Given the description of an element on the screen output the (x, y) to click on. 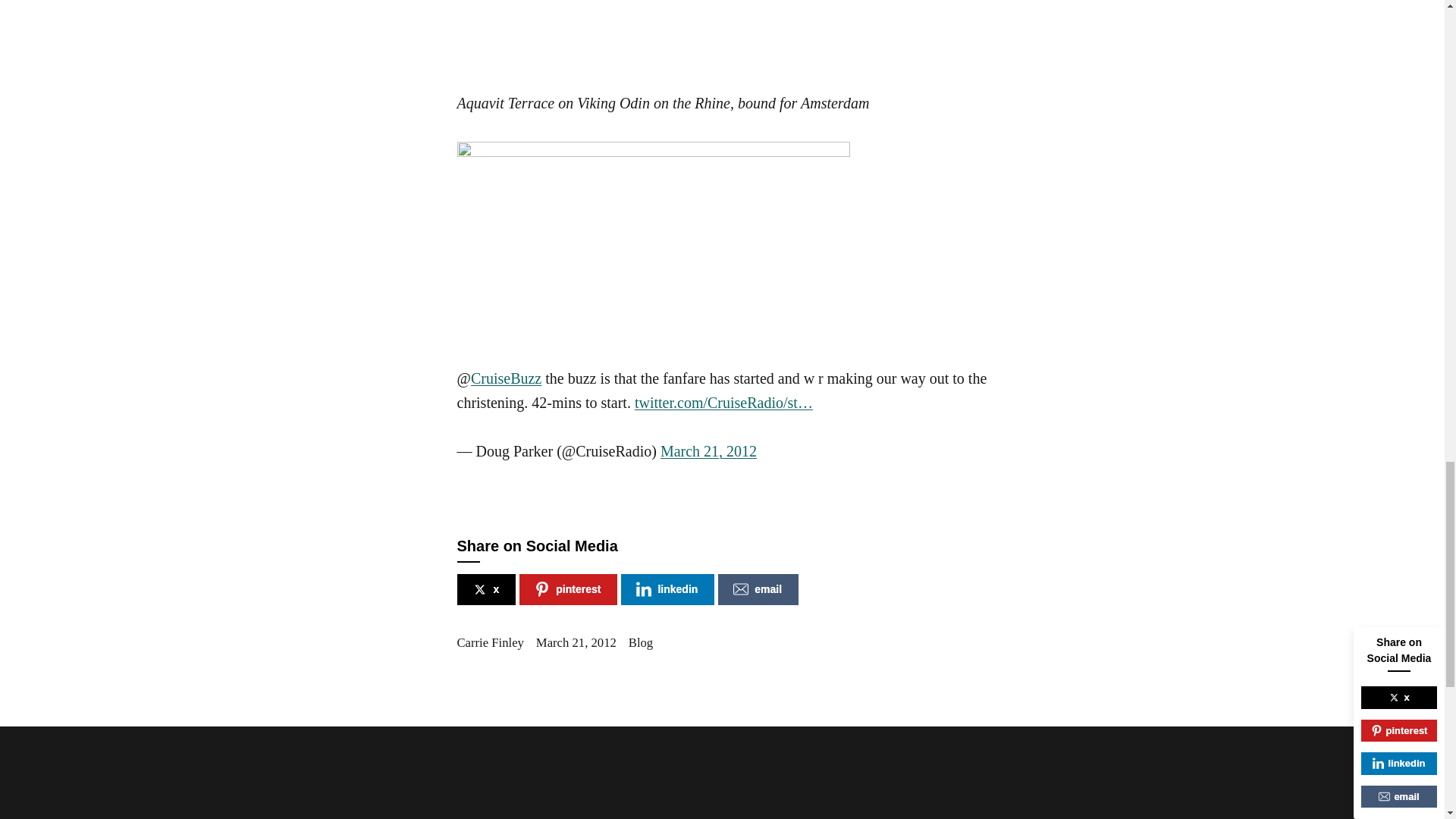
Blog (640, 642)
The Deck Chair Blog (652, 167)
Carrie Finley (489, 642)
x (486, 589)
Viking River Cruises FB Page (661, 33)
CruiseBuzz (505, 378)
email (757, 589)
pinterest (568, 589)
March 21, 2012 (709, 451)
March 21, 2012 (575, 642)
linkedin (667, 589)
